Given the description of an element on the screen output the (x, y) to click on. 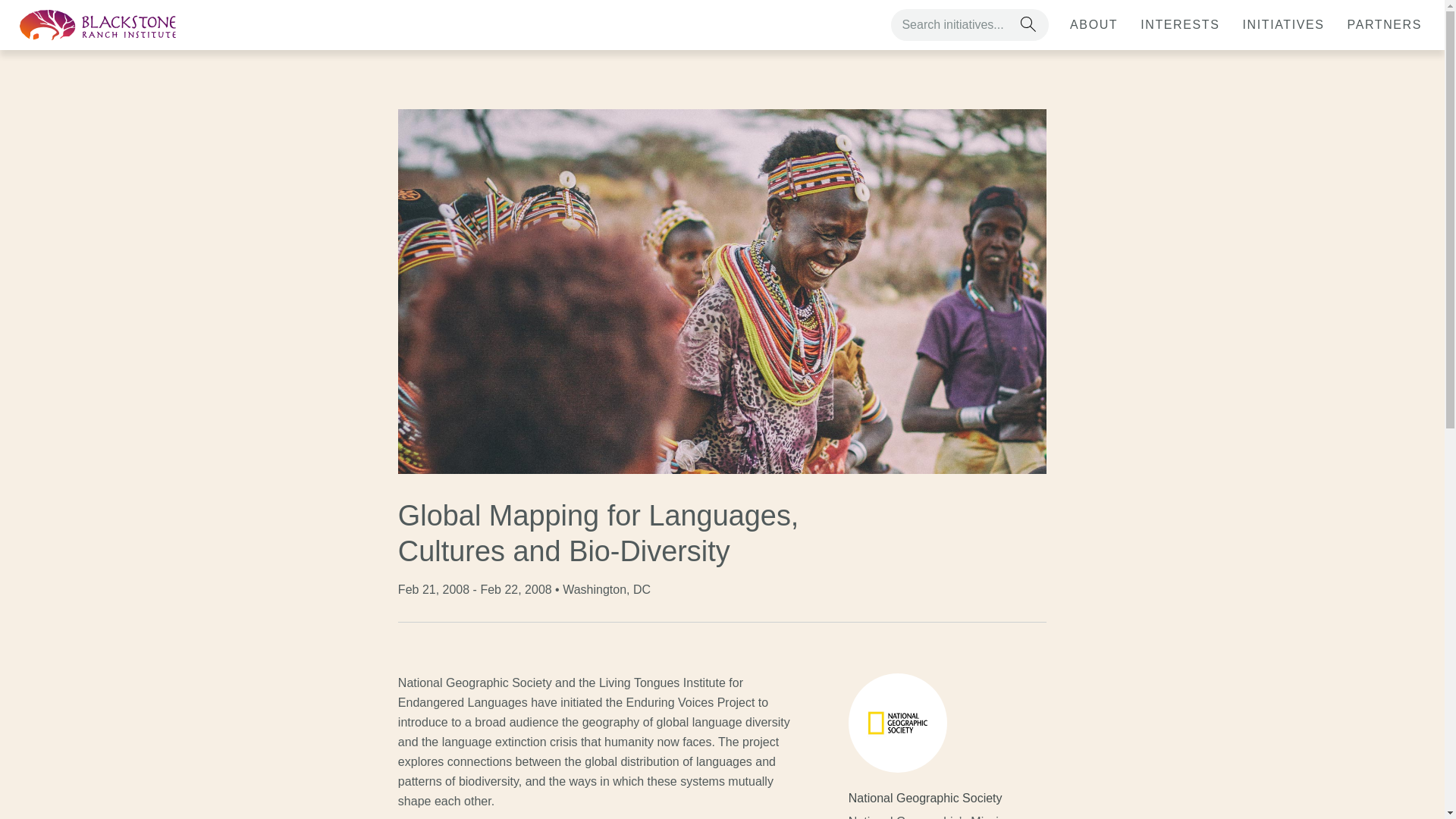
INTERESTS (1179, 24)
PARTNERS (1384, 24)
National Geographic Society (935, 798)
INITIATIVES (1283, 24)
ABOUT (1093, 24)
